Given the description of an element on the screen output the (x, y) to click on. 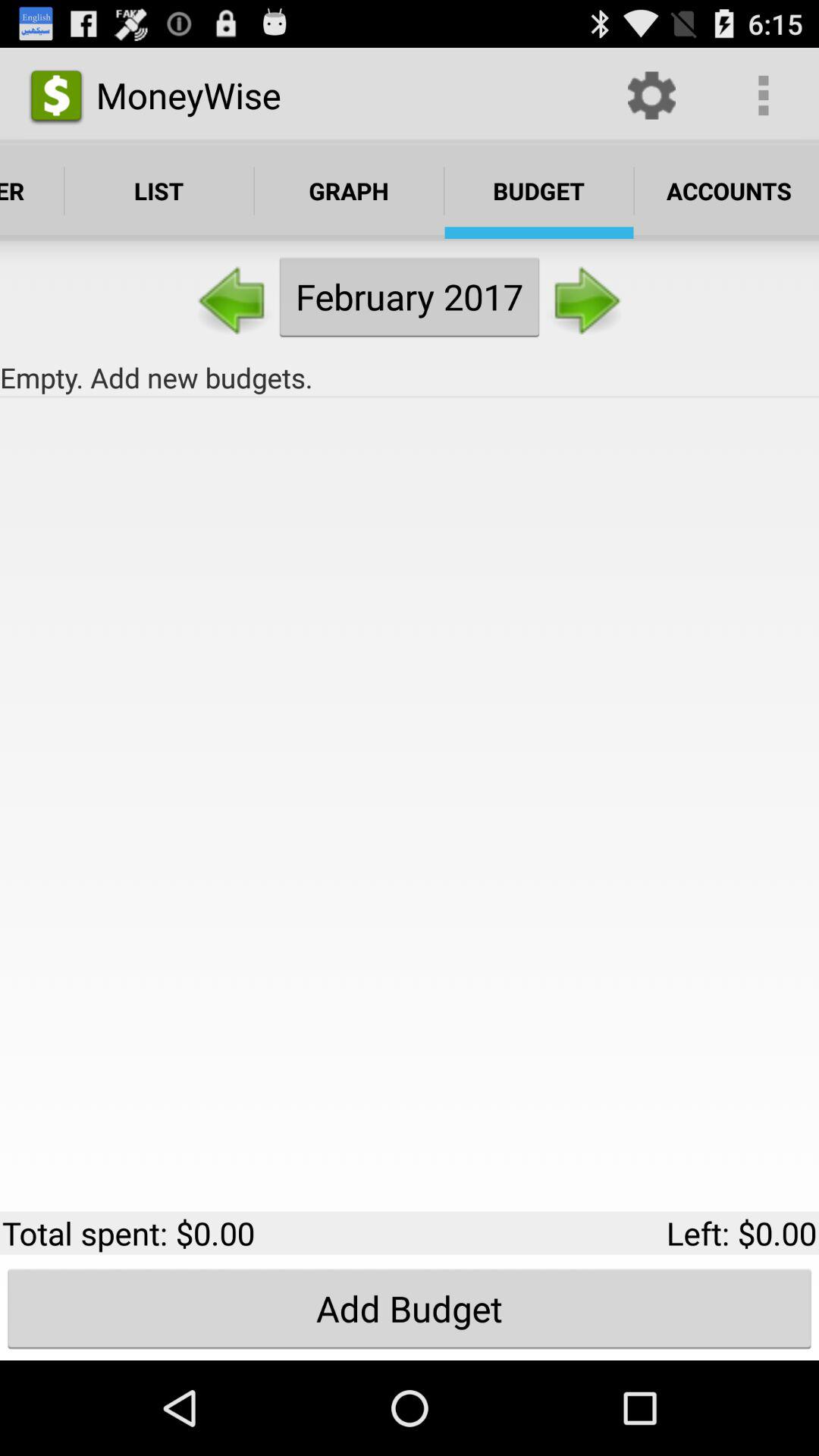
open the icon above the accounts (763, 95)
